Given the description of an element on the screen output the (x, y) to click on. 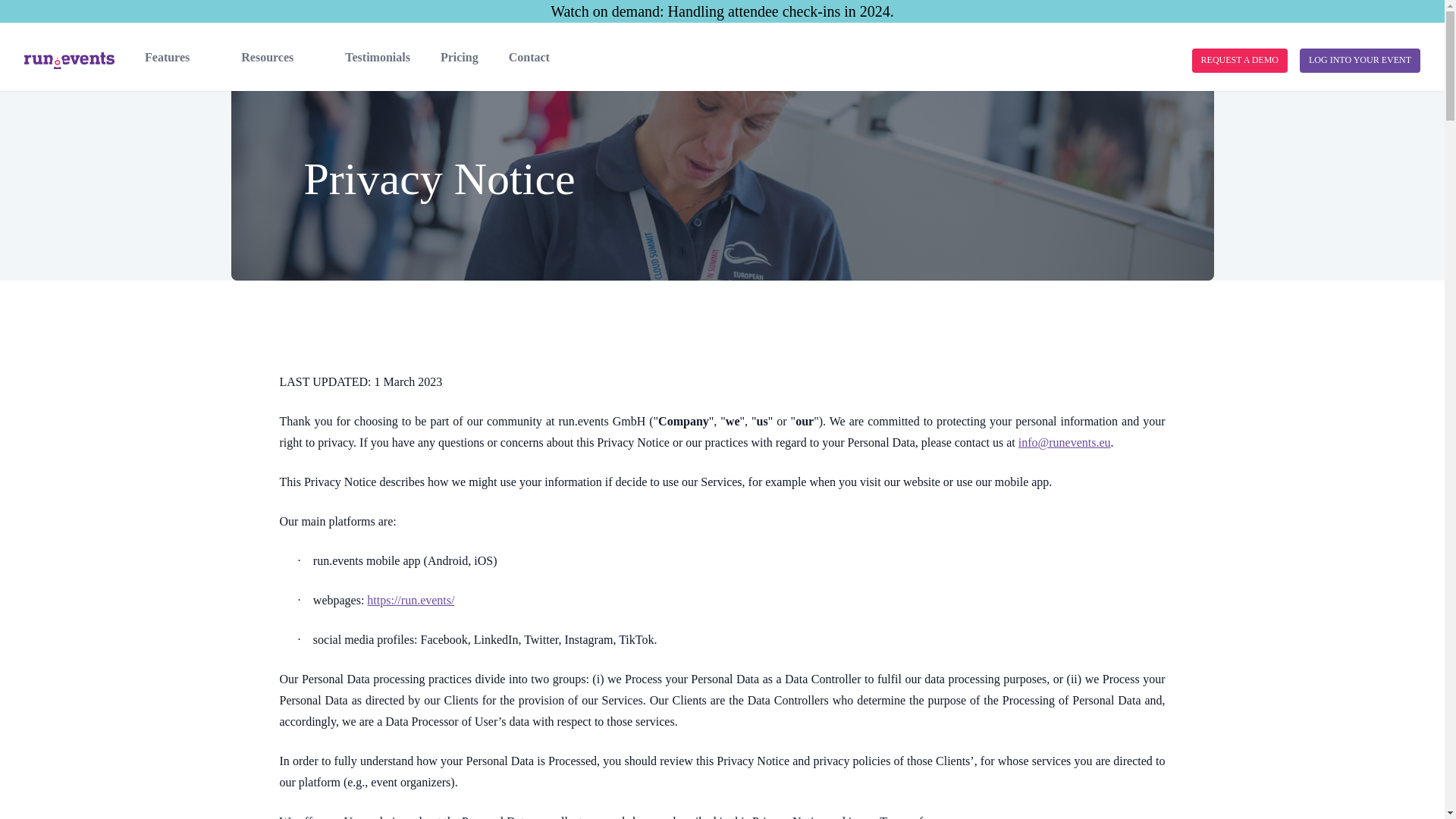
Pricing (460, 56)
Testimonials (377, 56)
Watch on demand: Handling attendee check-ins in 2024. (721, 11)
Contact (529, 56)
